Given the description of an element on the screen output the (x, y) to click on. 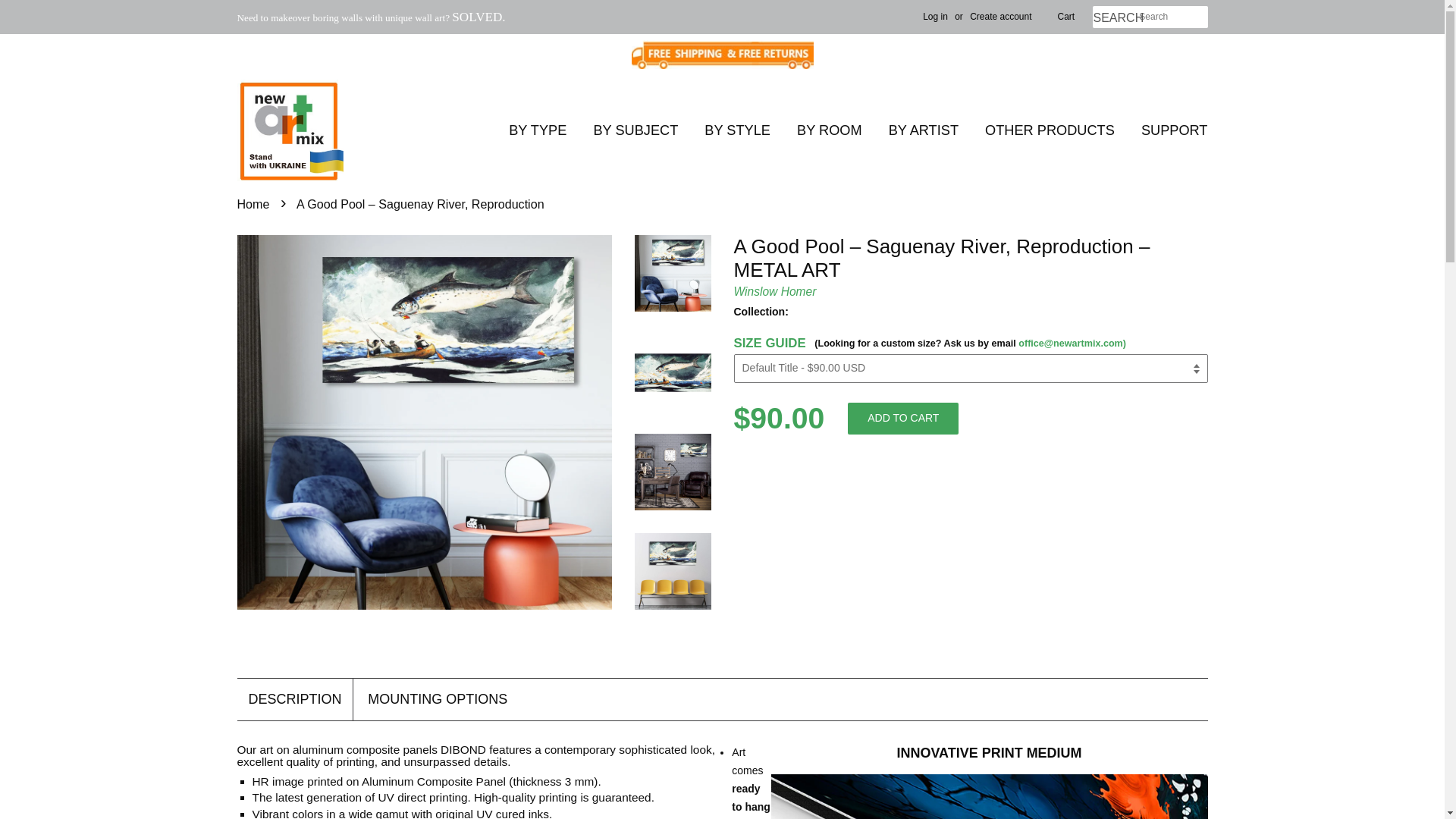
Log in (935, 16)
Cart (1066, 16)
Create account (999, 16)
Back to the frontpage (254, 203)
SEARCH (1115, 18)
